Given the description of an element on the screen output the (x, y) to click on. 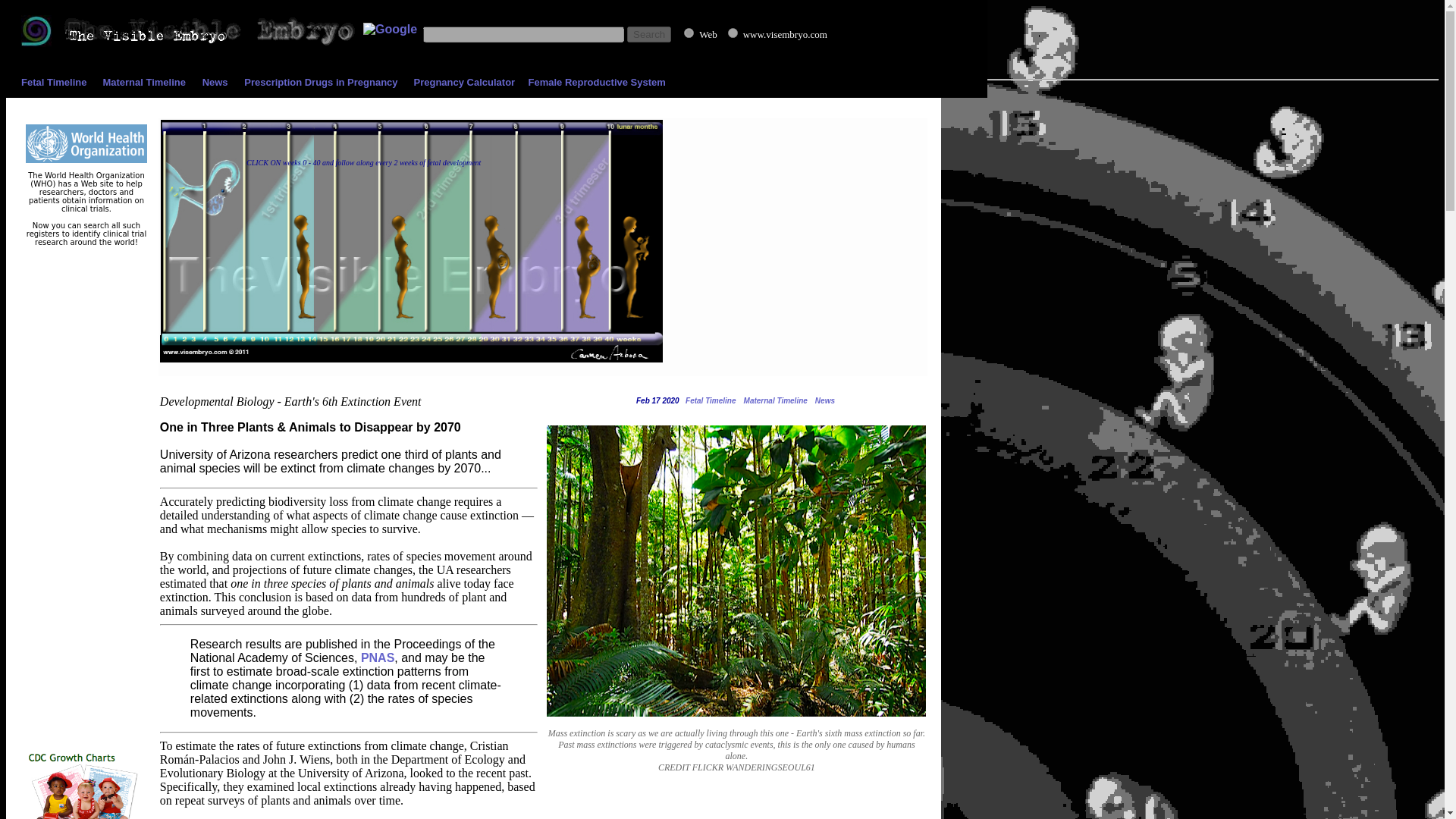
Pregnancy Calculator (464, 81)
Prescription Drugs in Pregnancy (320, 81)
News (215, 81)
www.visembryo.com (733, 32)
Search the Web (762, 33)
News (824, 400)
Fetal Timeline (53, 81)
Female Reproductive System (596, 81)
Fetal Timeline (53, 81)
  Fetal Timeline (708, 400)
Pregnancy Calculator (464, 81)
Female Reproductive System (596, 81)
Maternal Timeline (143, 81)
News (215, 81)
Search (649, 34)
